Given the description of an element on the screen output the (x, y) to click on. 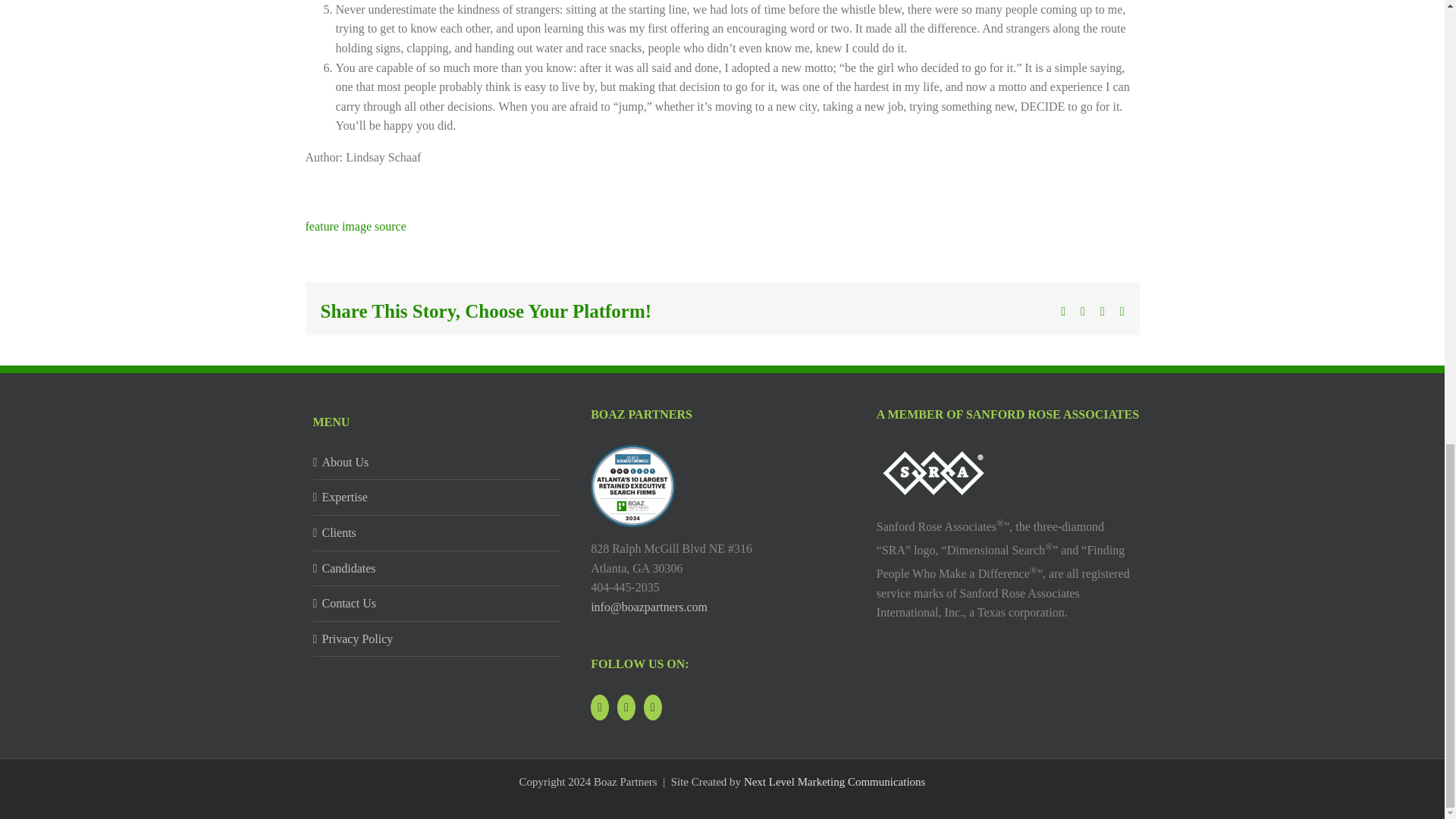
feature image source (355, 226)
Candidates (437, 568)
Privacy Policy (437, 639)
Expertise (437, 496)
Clients (437, 532)
About Us (437, 462)
Contact Us (437, 603)
